Given the description of an element on the screen output the (x, y) to click on. 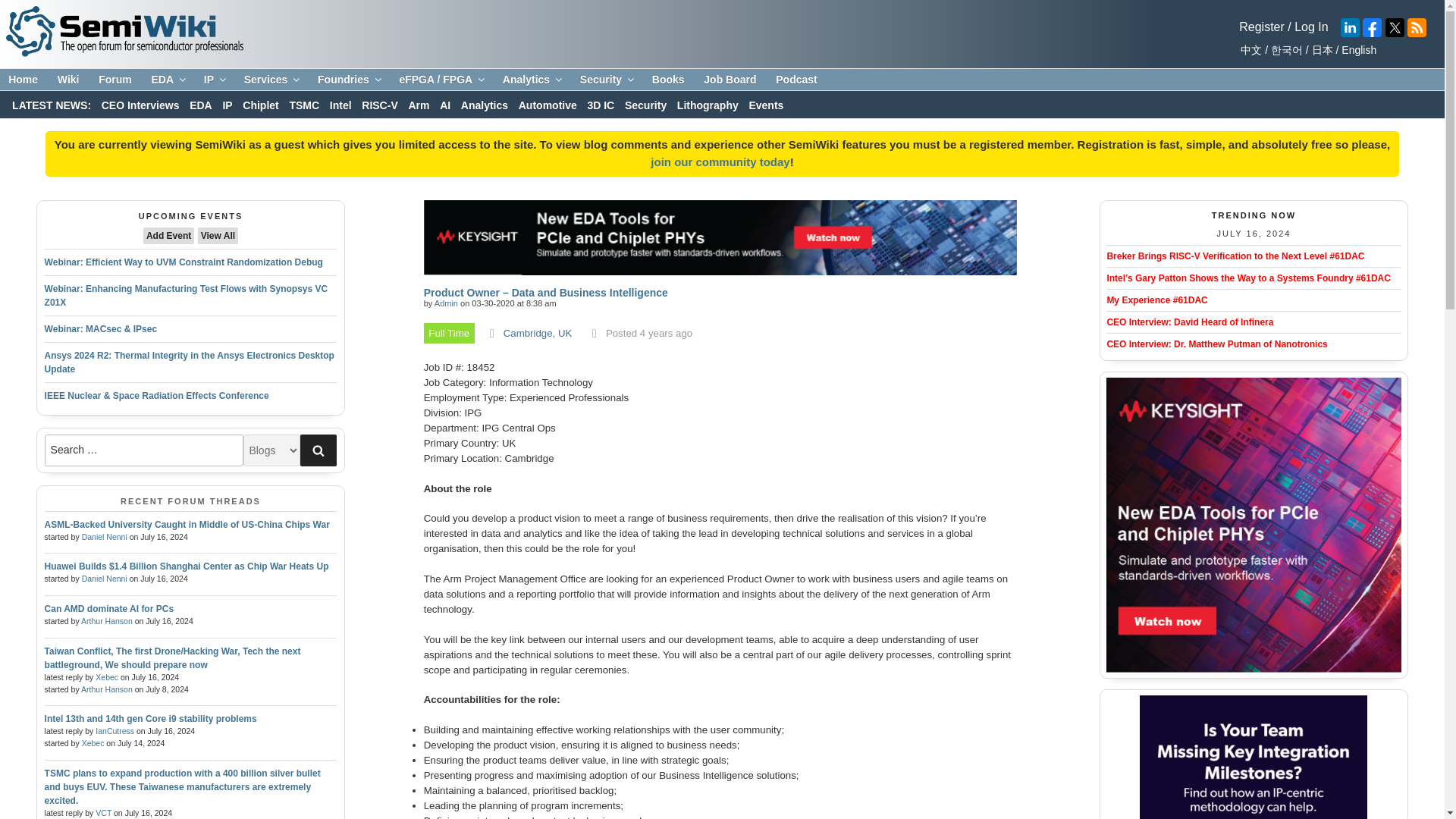
Register (1261, 26)
Webinar: Efficient Way to UVM Constraint Randomization Debug (184, 262)
Login (1310, 26)
Home (23, 79)
Korean (1284, 50)
IP (213, 79)
Japanese (1319, 50)
English (1356, 50)
Forum (114, 79)
Login (719, 161)
EDA (167, 79)
Log In (1310, 26)
Wiki (68, 79)
